Given the description of an element on the screen output the (x, y) to click on. 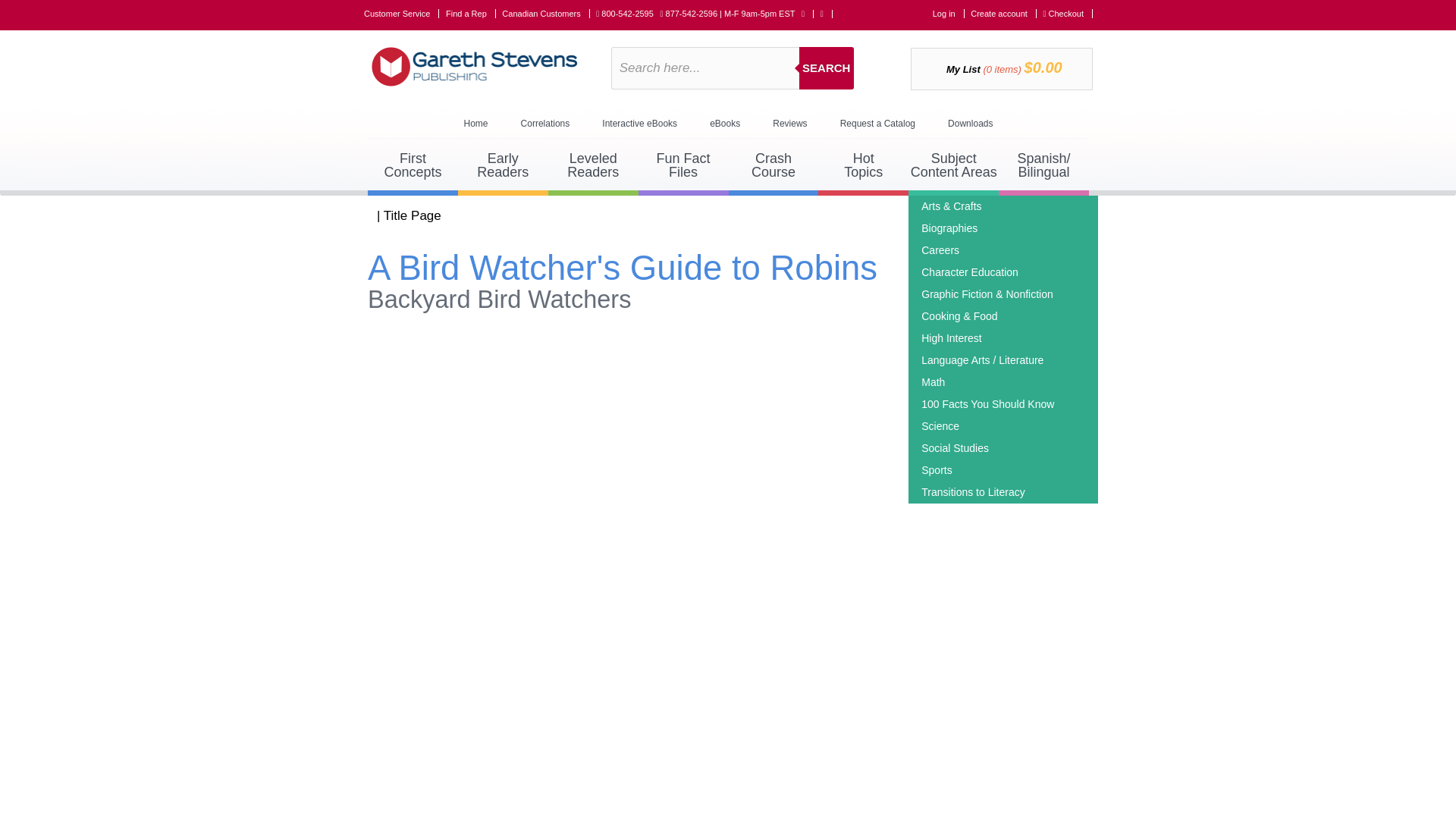
Math (413, 166)
Find a Rep (932, 381)
Customer Service (470, 13)
SEARCH (401, 13)
Canadian Customers (826, 67)
Checkout (545, 13)
Biographies (1067, 13)
Character Education (593, 166)
